Given the description of an element on the screen output the (x, y) to click on. 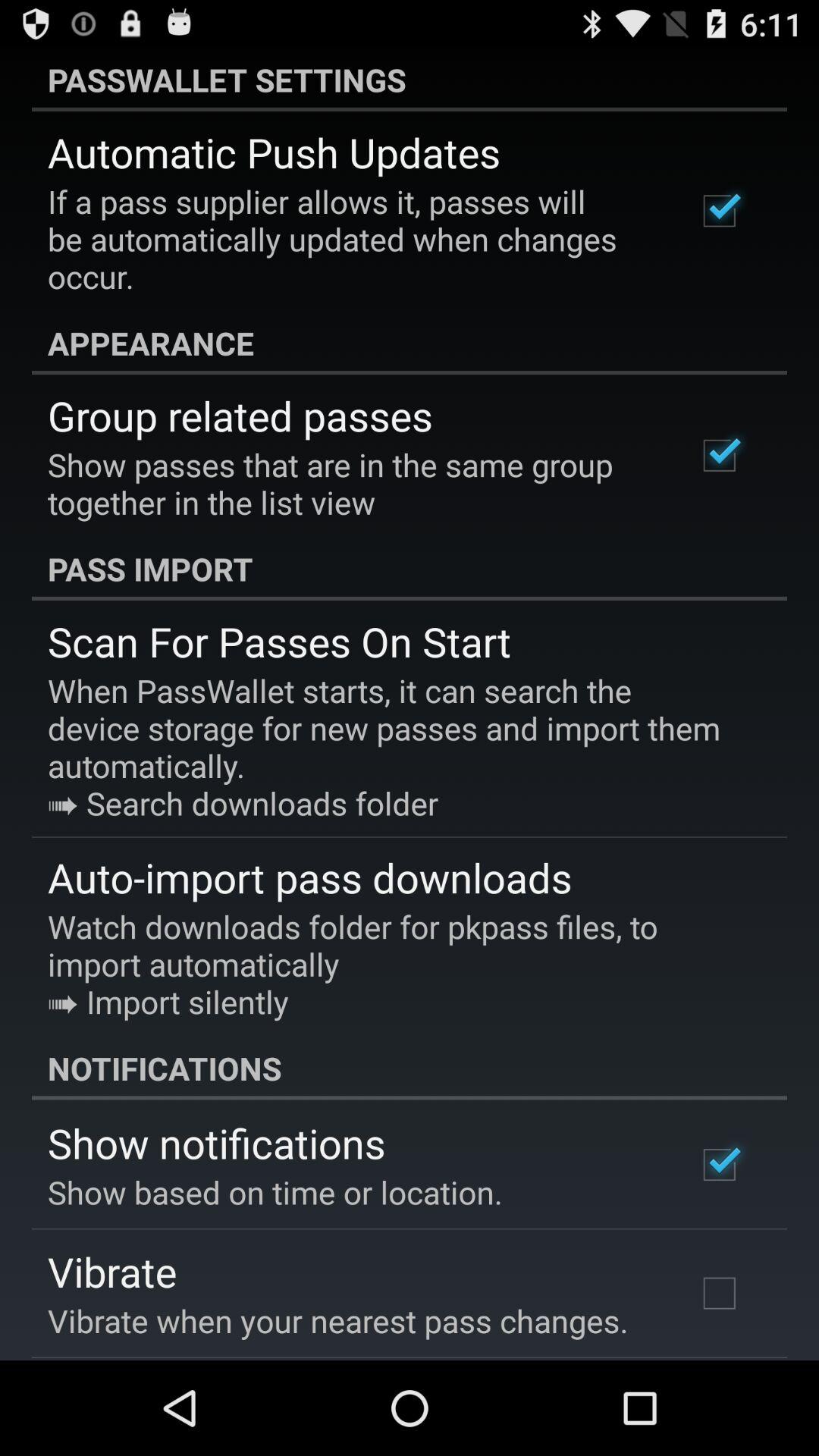
open the app above show based on app (216, 1142)
